Given the description of an element on the screen output the (x, y) to click on. 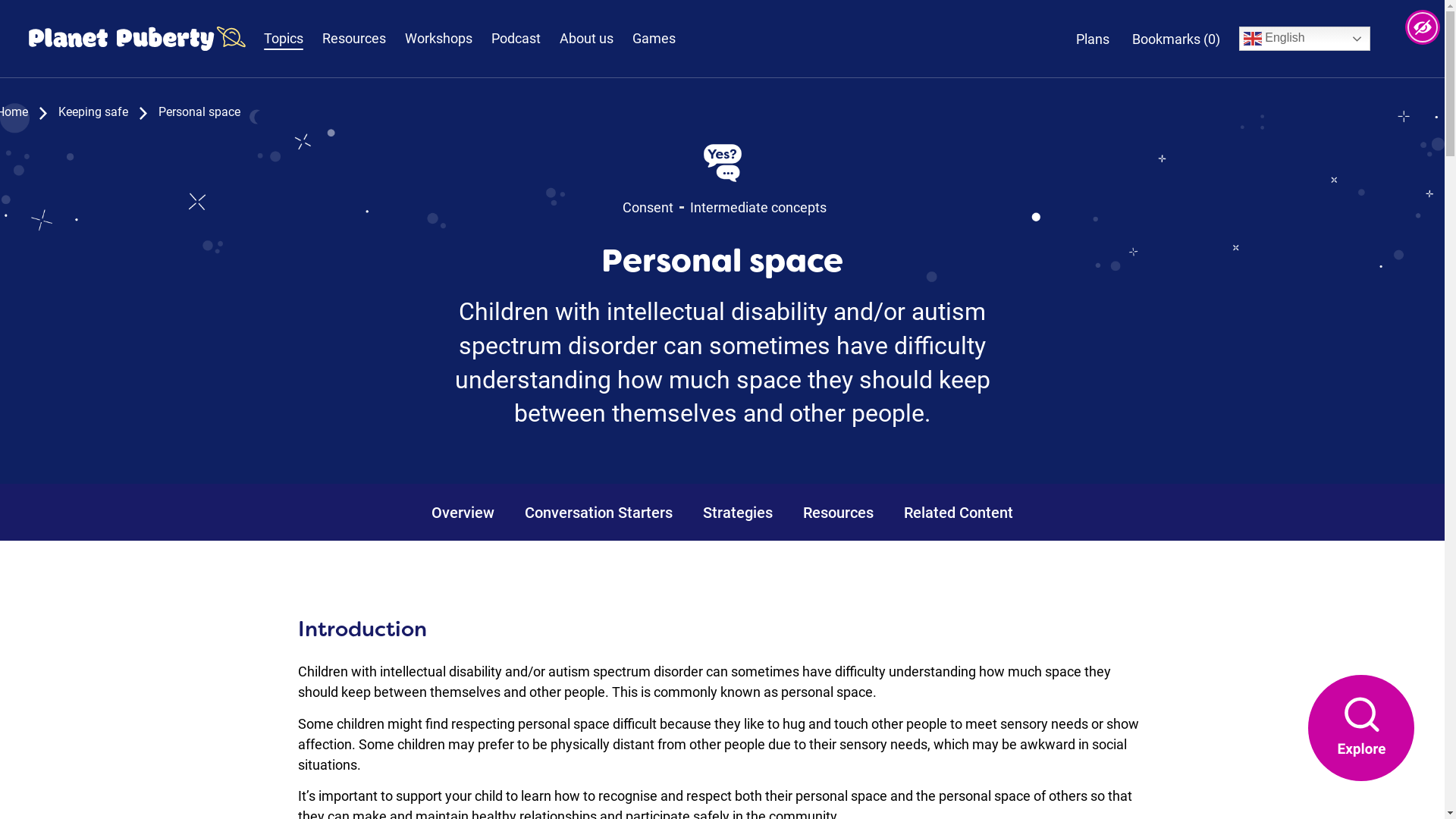
Resources Element type: text (353, 38)
Podcast Element type: text (515, 38)
Overview Element type: text (462, 512)
Resources Element type: text (837, 512)
About us Element type: text (586, 38)
Conversation Starters Element type: text (598, 512)
English Element type: text (1304, 38)
Bookmarks (0) Element type: text (1174, 37)
Keeping safe Element type: text (93, 111)
Strategies Element type: text (737, 512)
Topics Element type: text (283, 38)
Workshops Element type: text (438, 38)
Games Element type: text (653, 38)
Plans Element type: text (1092, 37)
Related Content Element type: text (958, 512)
